Given the description of an element on the screen output the (x, y) to click on. 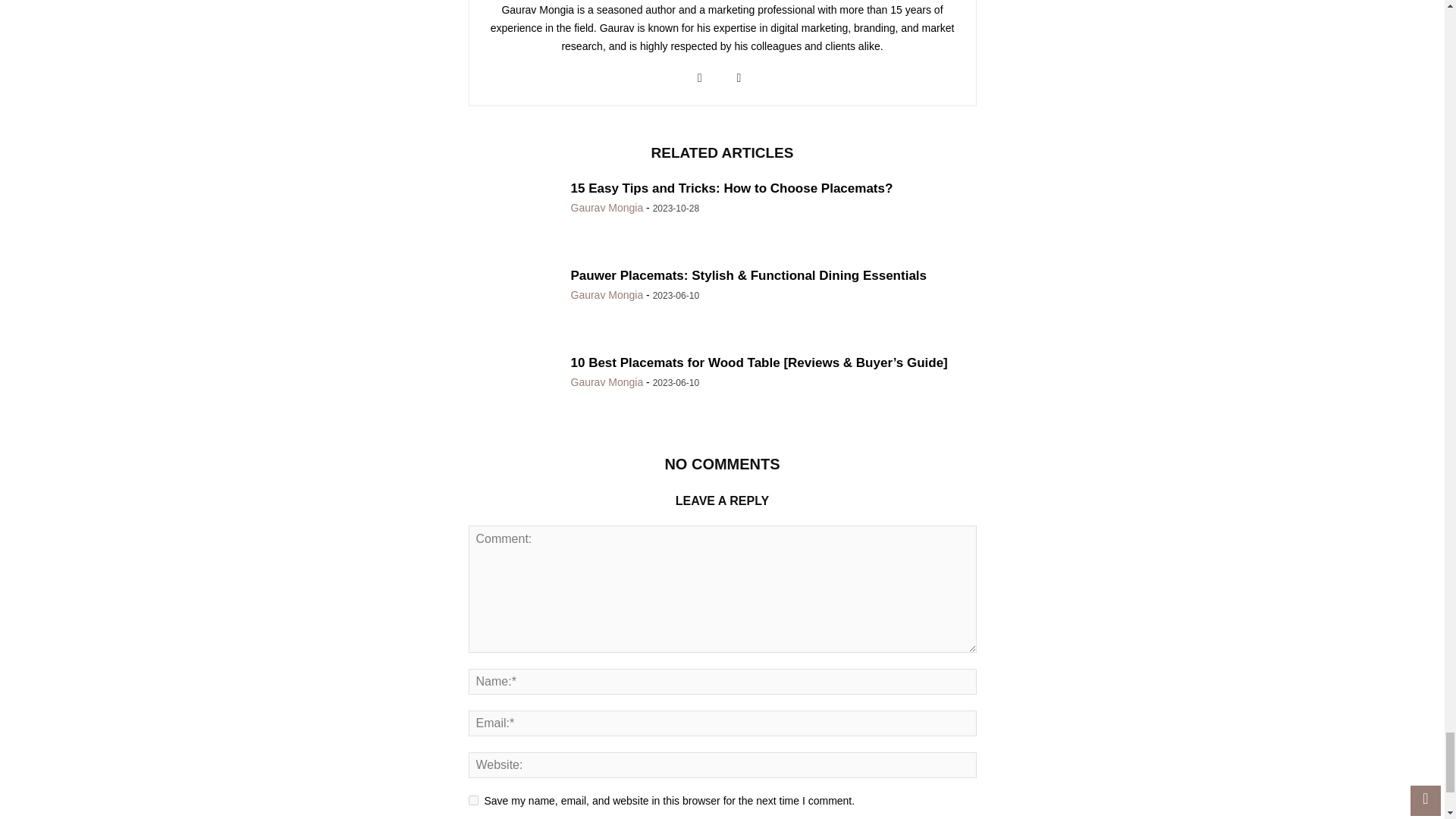
15 Easy Tips and Tricks: How to Choose Placemats? (731, 187)
yes (473, 800)
15 Easy Tips and Tricks: How to Choose Placemats? (513, 214)
Instagram (699, 78)
Linkedin (738, 78)
